Given the description of an element on the screen output the (x, y) to click on. 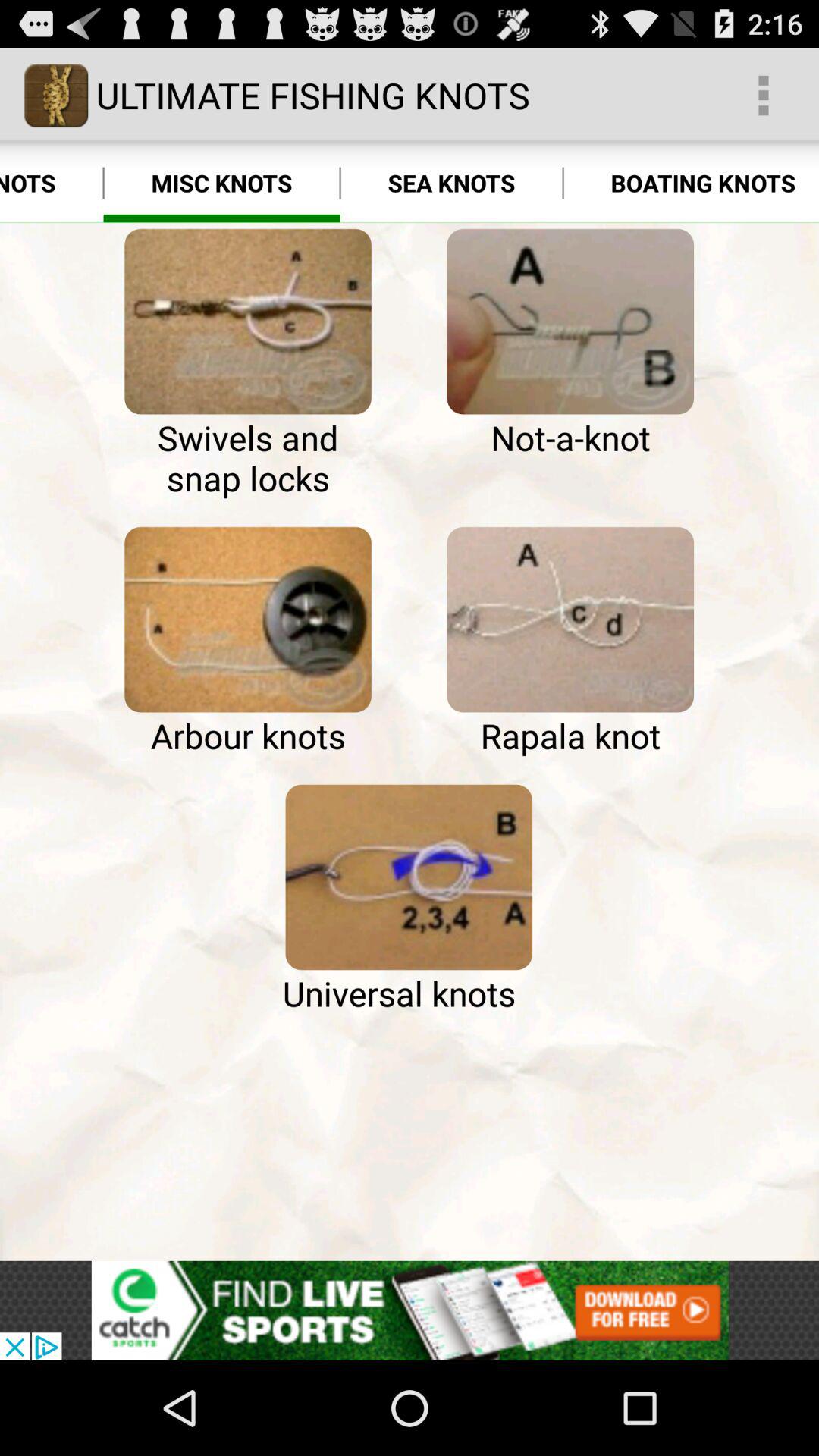
it 's a sport advertisement (409, 1310)
